Given the description of an element on the screen output the (x, y) to click on. 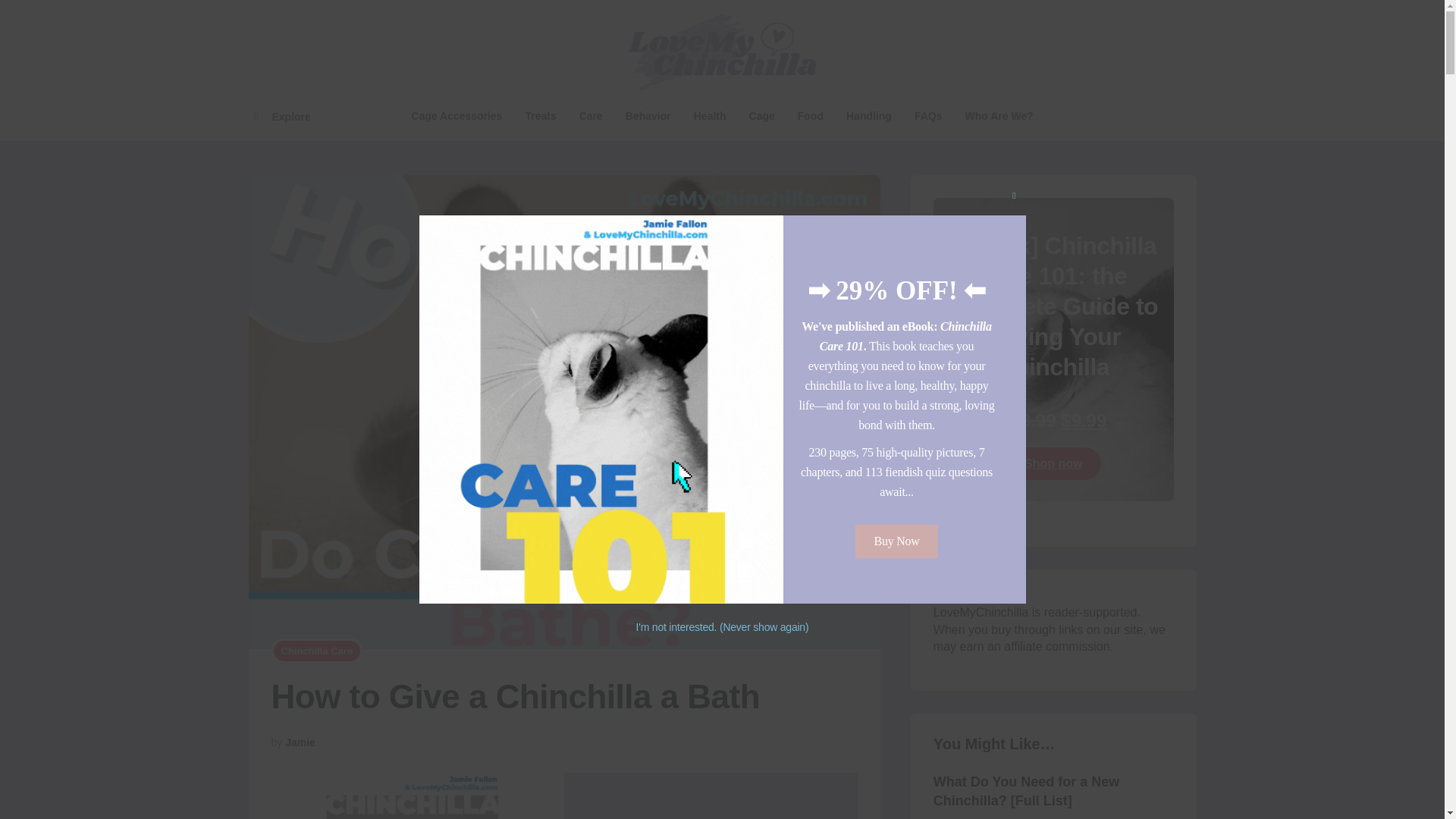
Behavior (648, 116)
Health (710, 116)
Treats (540, 116)
Cage Accessories (455, 116)
FAQs (927, 116)
Food (810, 116)
Handling (868, 116)
Cage (762, 116)
Who Are We? (998, 116)
Care (590, 116)
